Given the description of an element on the screen output the (x, y) to click on. 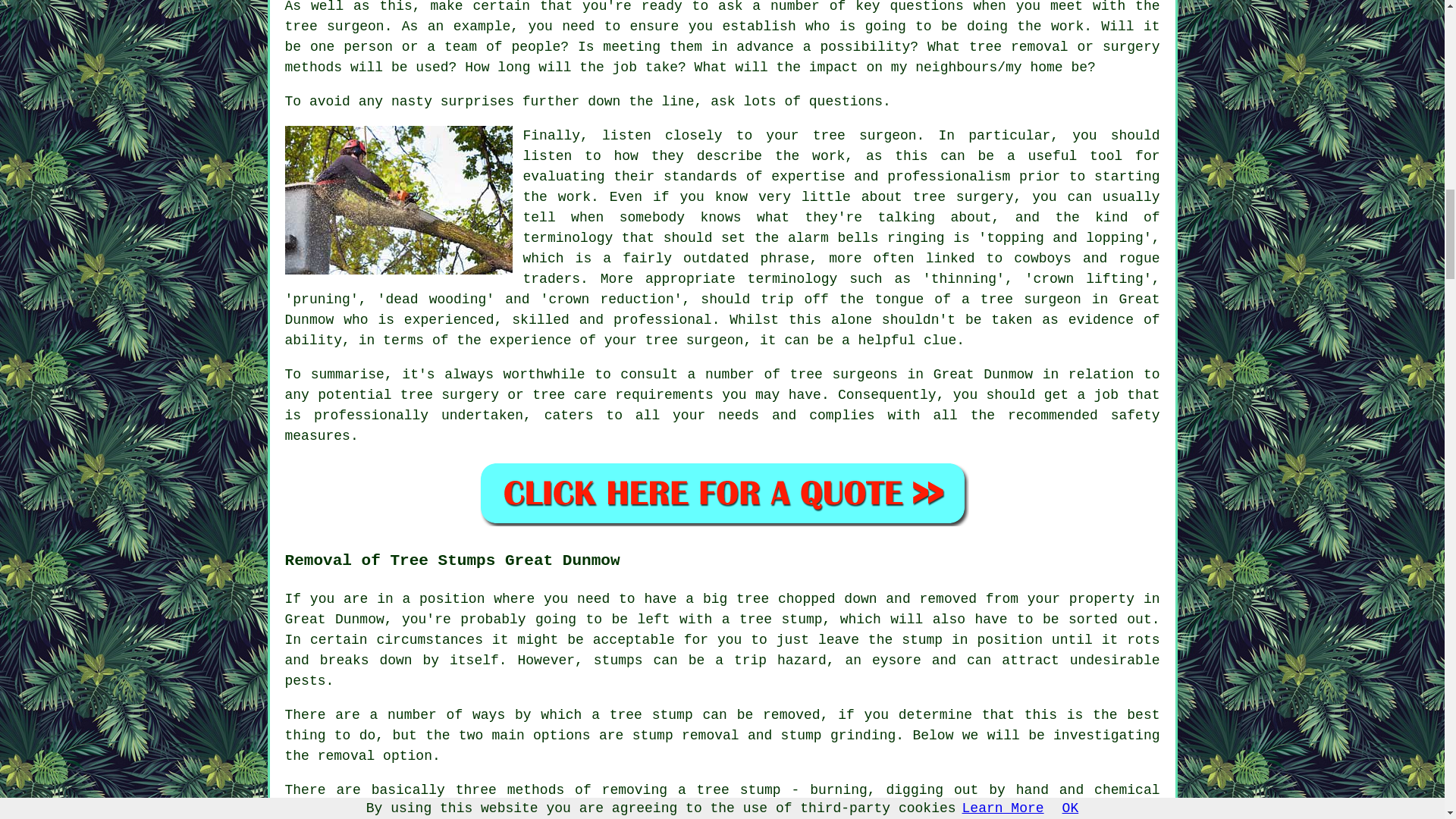
Click For Tree Surgery Quotes in Great Dunmow Essex (722, 493)
